Given the description of an element on the screen output the (x, y) to click on. 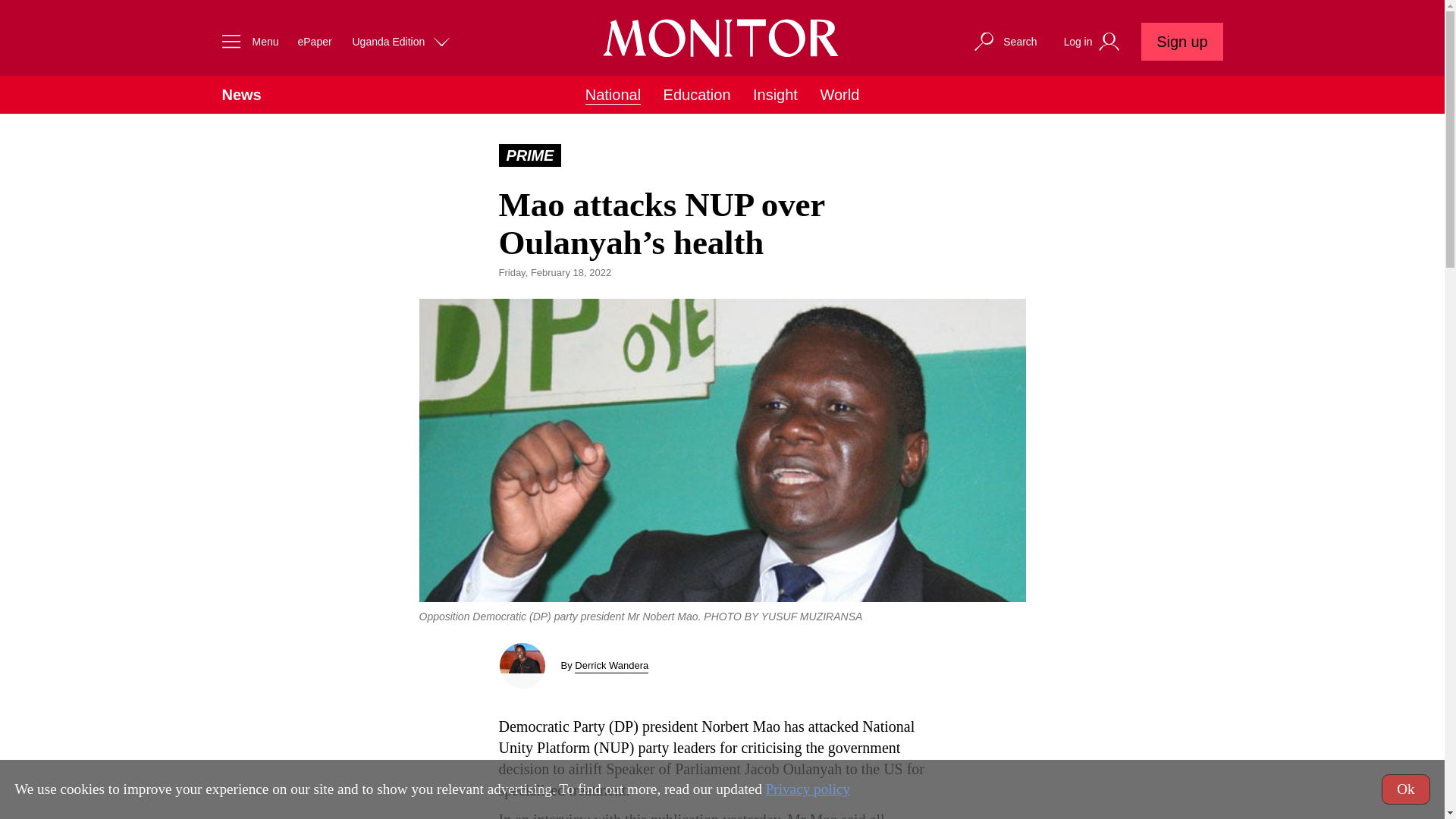
Privacy policy (807, 788)
Privacy policy (807, 788)
National (612, 95)
World (839, 94)
News (240, 94)
Search (1003, 41)
ePaper (314, 41)
Ok (1405, 788)
Sign up (1182, 41)
Education (696, 94)
